Given the description of an element on the screen output the (x, y) to click on. 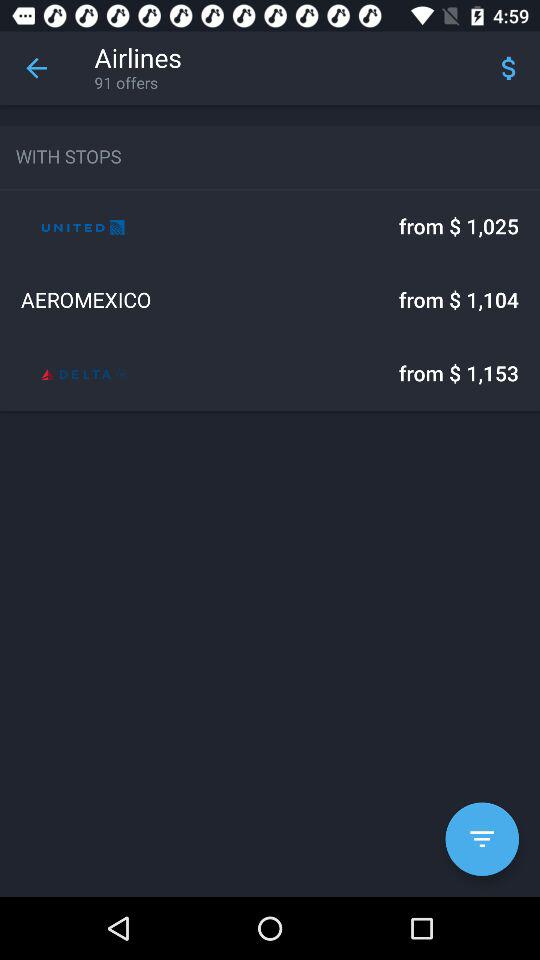
turn off the icon next to airlines (36, 68)
